Given the description of an element on the screen output the (x, y) to click on. 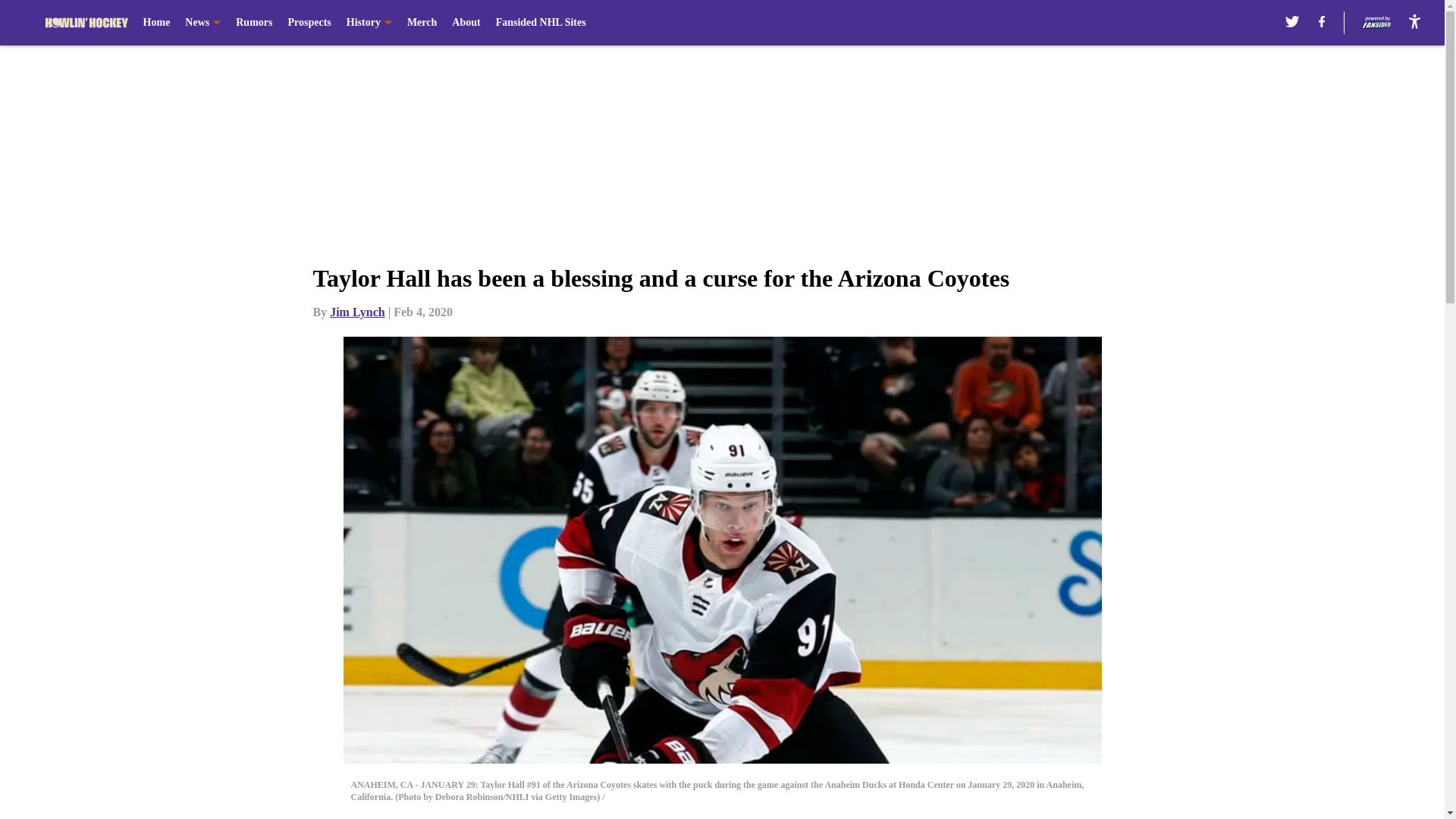
Jim Lynch (357, 311)
Prospects (308, 22)
About (465, 22)
Merch (421, 22)
Rumors (253, 22)
Home (156, 22)
Fansided NHL Sites (541, 22)
